Given the description of an element on the screen output the (x, y) to click on. 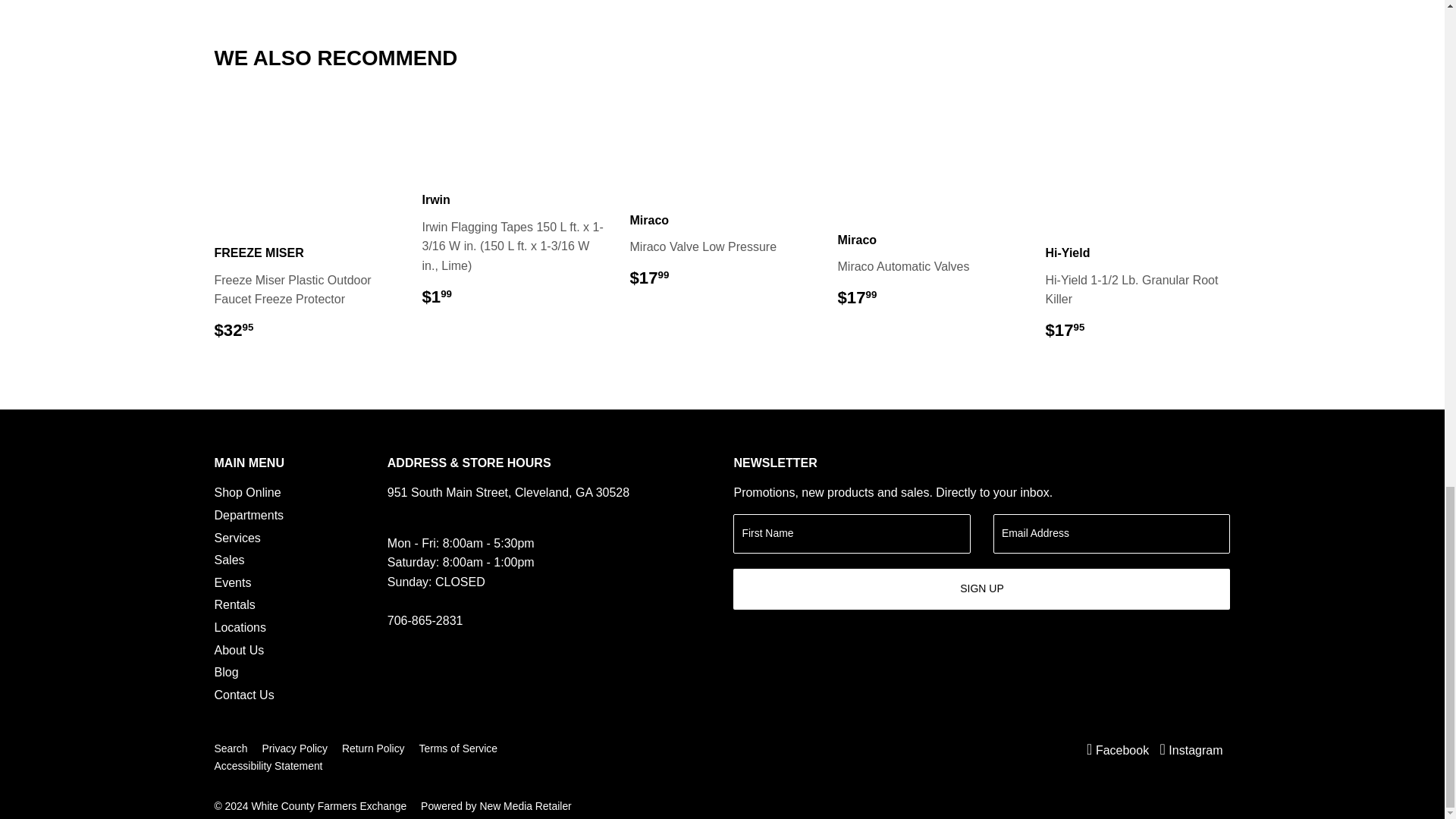
White County Farmers Exchange on Facebook (1117, 749)
White County Farmers Exchange on Instagram (1191, 749)
tel:706-865-2831 (425, 620)
New Media Retailer (496, 806)
